Given the description of an element on the screen output the (x, y) to click on. 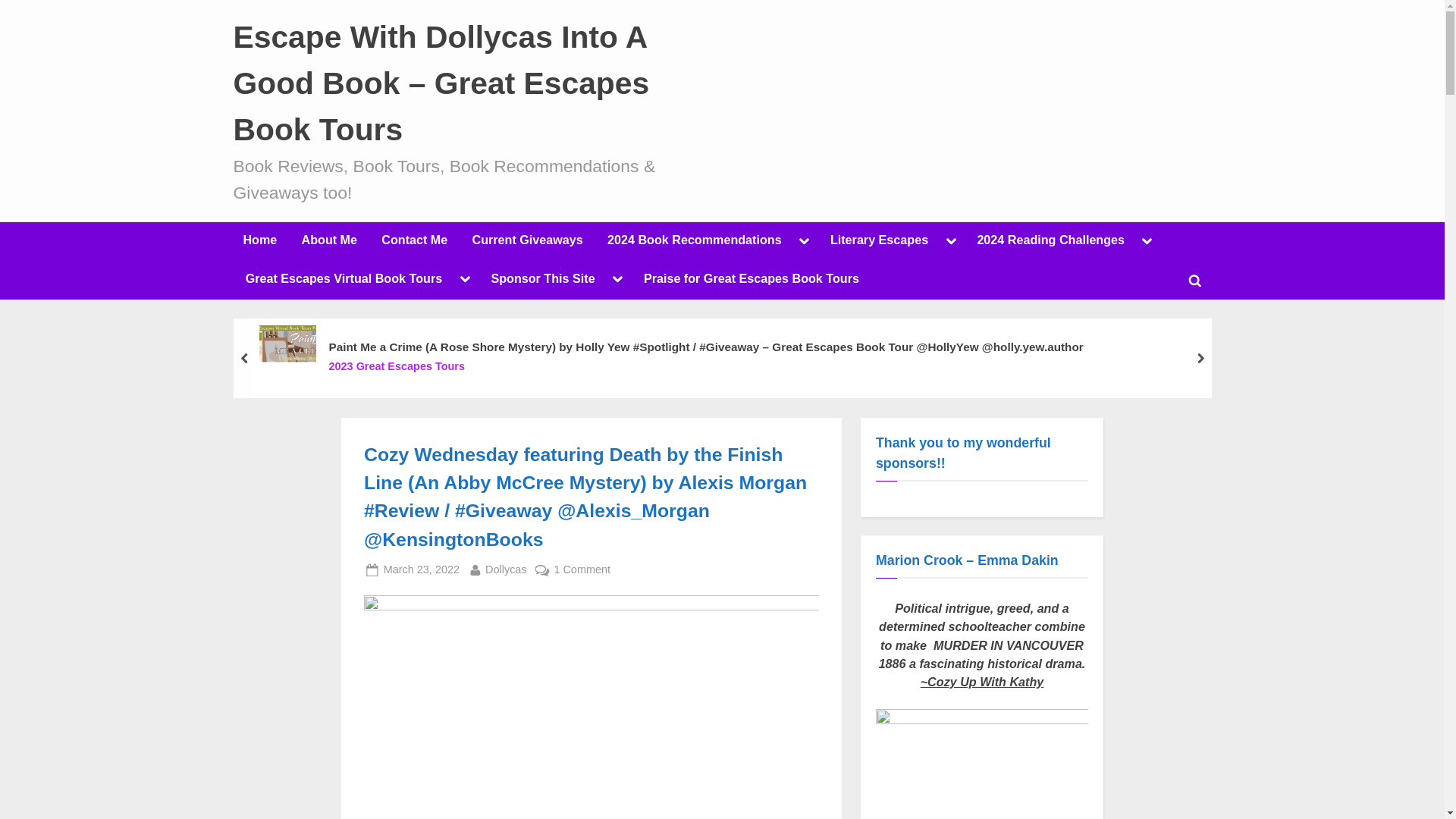
Toggle sub-menu (950, 241)
Home (259, 241)
About Me (329, 241)
Toggle sub-menu (804, 241)
2024 Book Recommendations (693, 241)
Current Giveaways (527, 241)
Literary Escapes (879, 241)
Contact Me (414, 241)
